Given the description of an element on the screen output the (x, y) to click on. 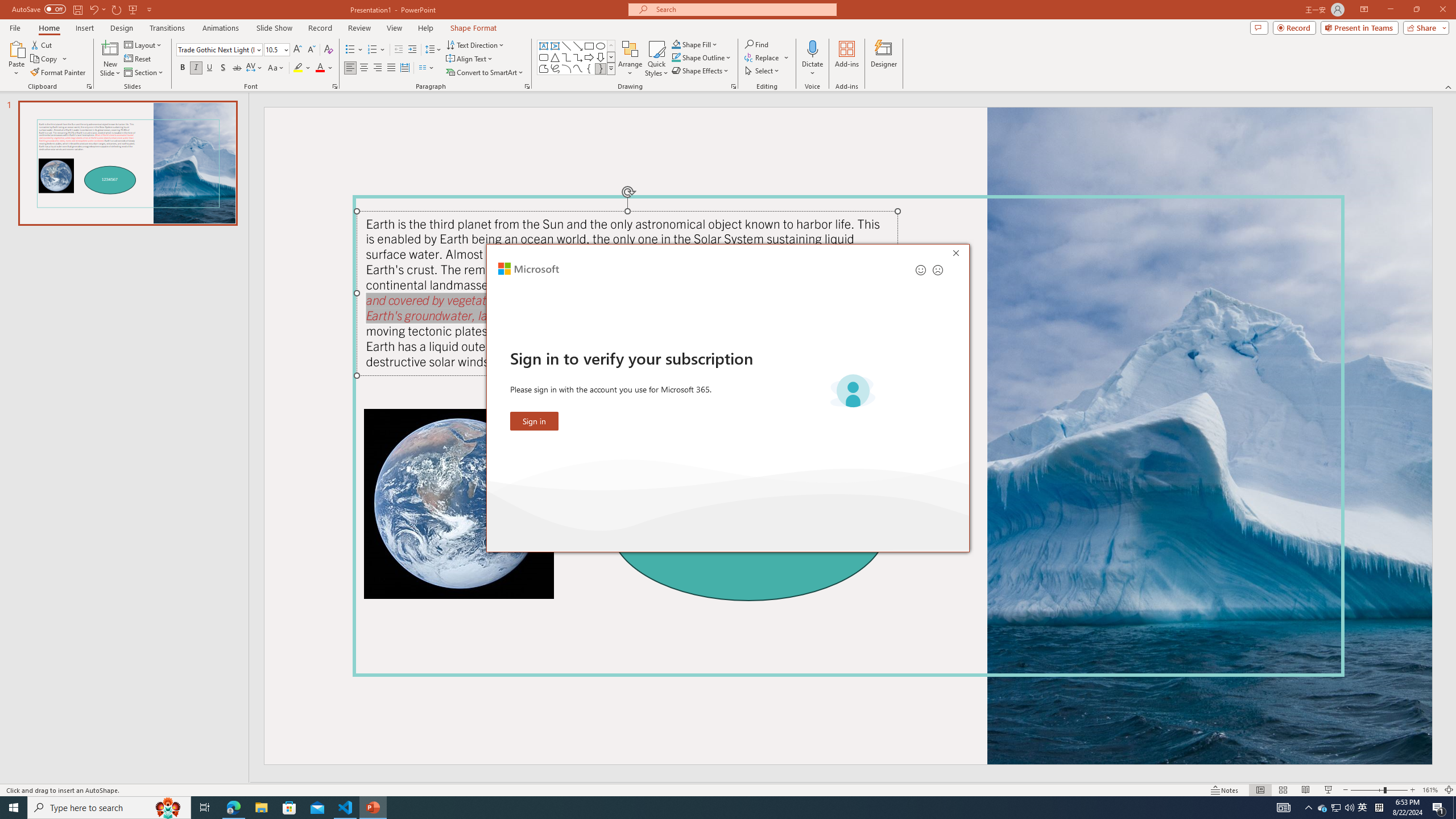
Shape Outline Teal, Accent 1 (675, 56)
